Given the description of an element on the screen output the (x, y) to click on. 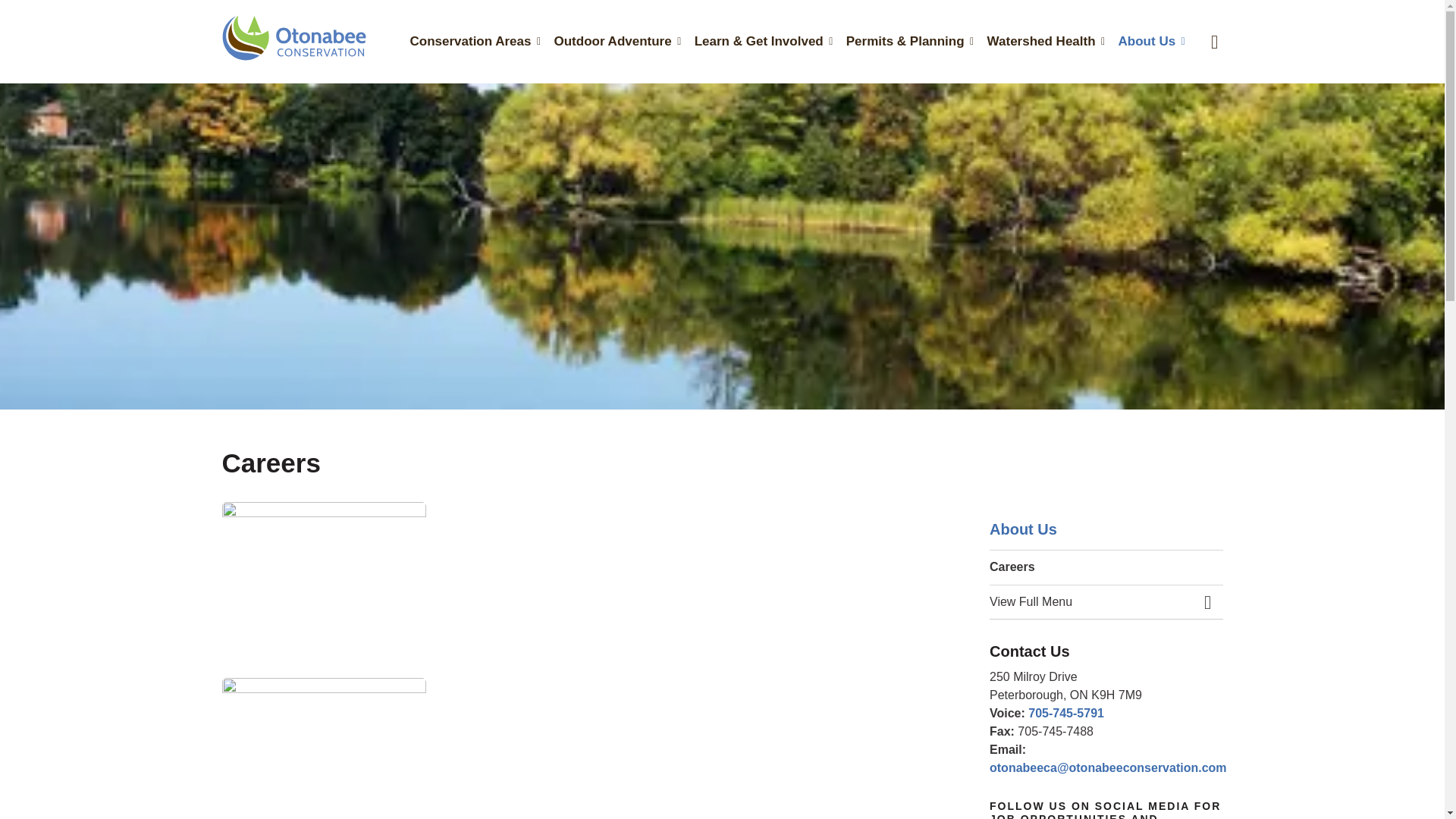
Conservation Areas (473, 41)
Outdoor Adventure (615, 41)
Otonabee Conservation (293, 37)
Email Us (1108, 767)
Call us (1065, 712)
